Given the description of an element on the screen output the (x, y) to click on. 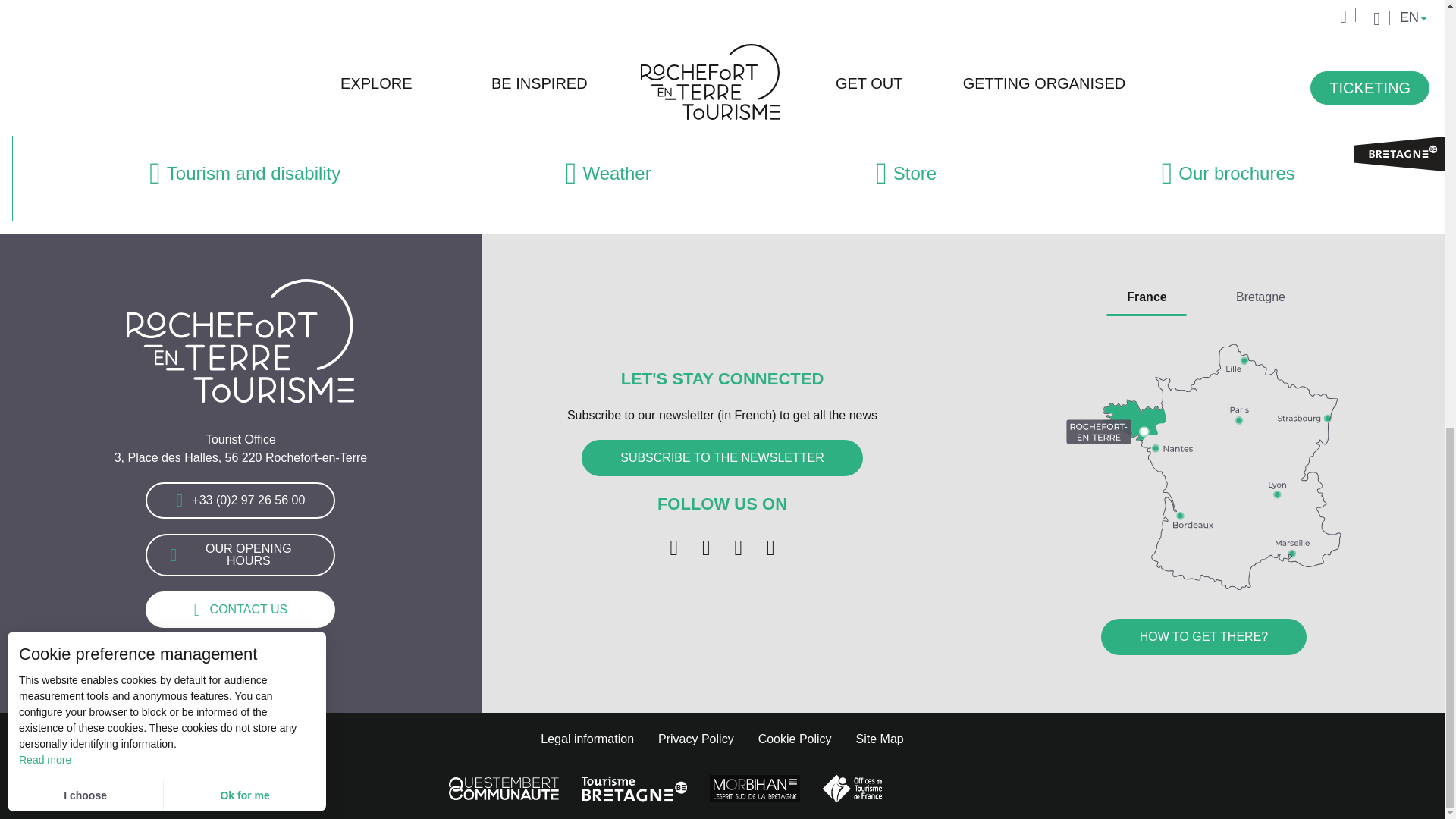
Our brochures  (1228, 173)
Cookie Policy (794, 738)
Our opening hours (239, 554)
Weather (608, 173)
OUR OPENING HOURS (239, 554)
Legal information (587, 738)
Bretagne (1260, 297)
CONTACT US (239, 609)
Legal information (587, 738)
Our brochures (1228, 173)
